Given the description of an element on the screen output the (x, y) to click on. 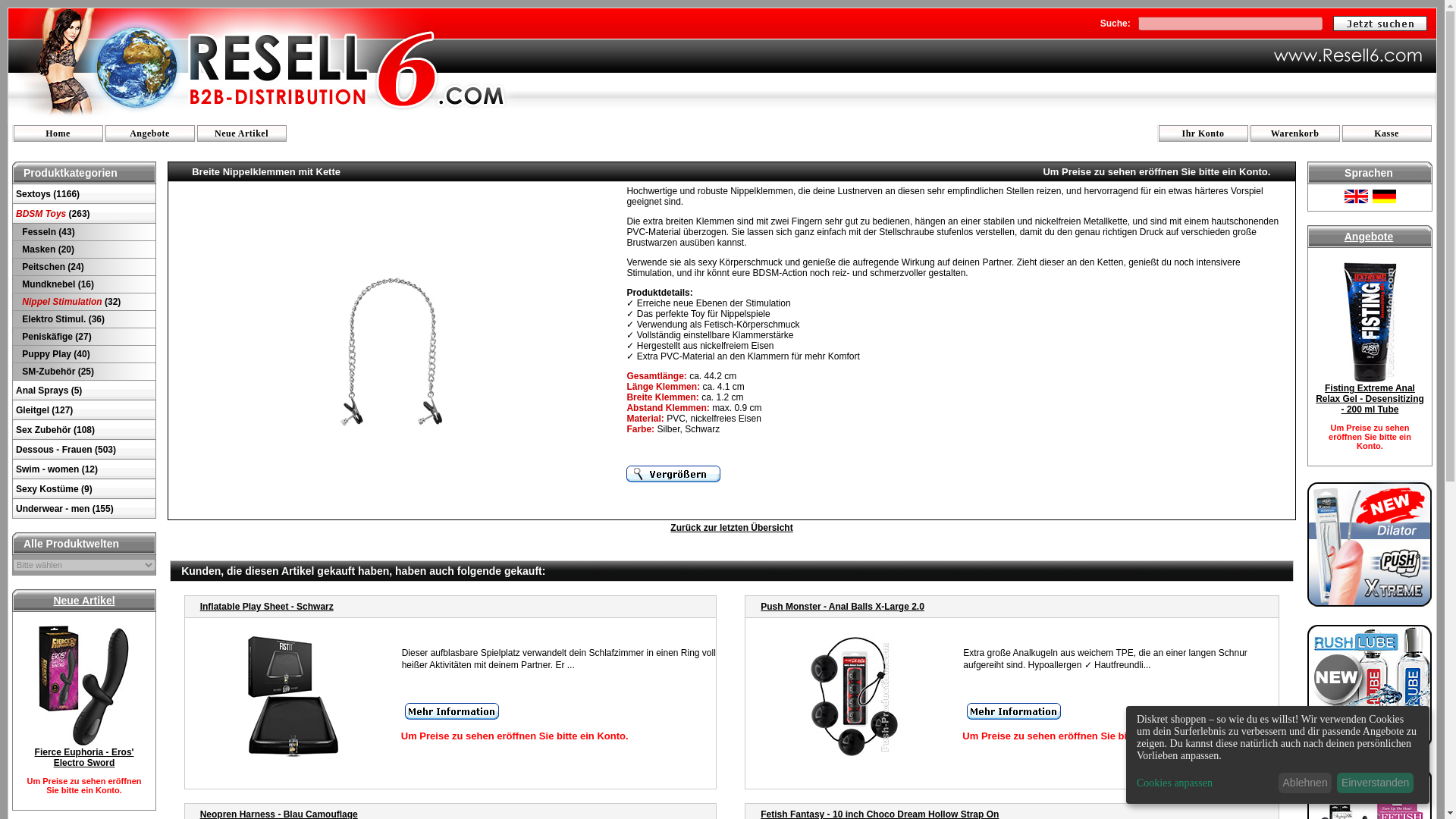
Home (57, 135)
 Suchen!  (1379, 23)
 Deutsch  (1383, 195)
Neue Artikel (83, 600)
Fierce Euphoria - Eros' Electro Sword (83, 757)
Neue Artikel (240, 135)
Ihr Konto (1203, 135)
Kasse (1386, 135)
Warenkorb (1294, 135)
 English  (1355, 195)
Inflatable Play Sheet - Schwarz (266, 606)
Push Monster - Anal Balls X-Large 2.0 (842, 606)
Angebote (149, 135)
